Given the description of an element on the screen output the (x, y) to click on. 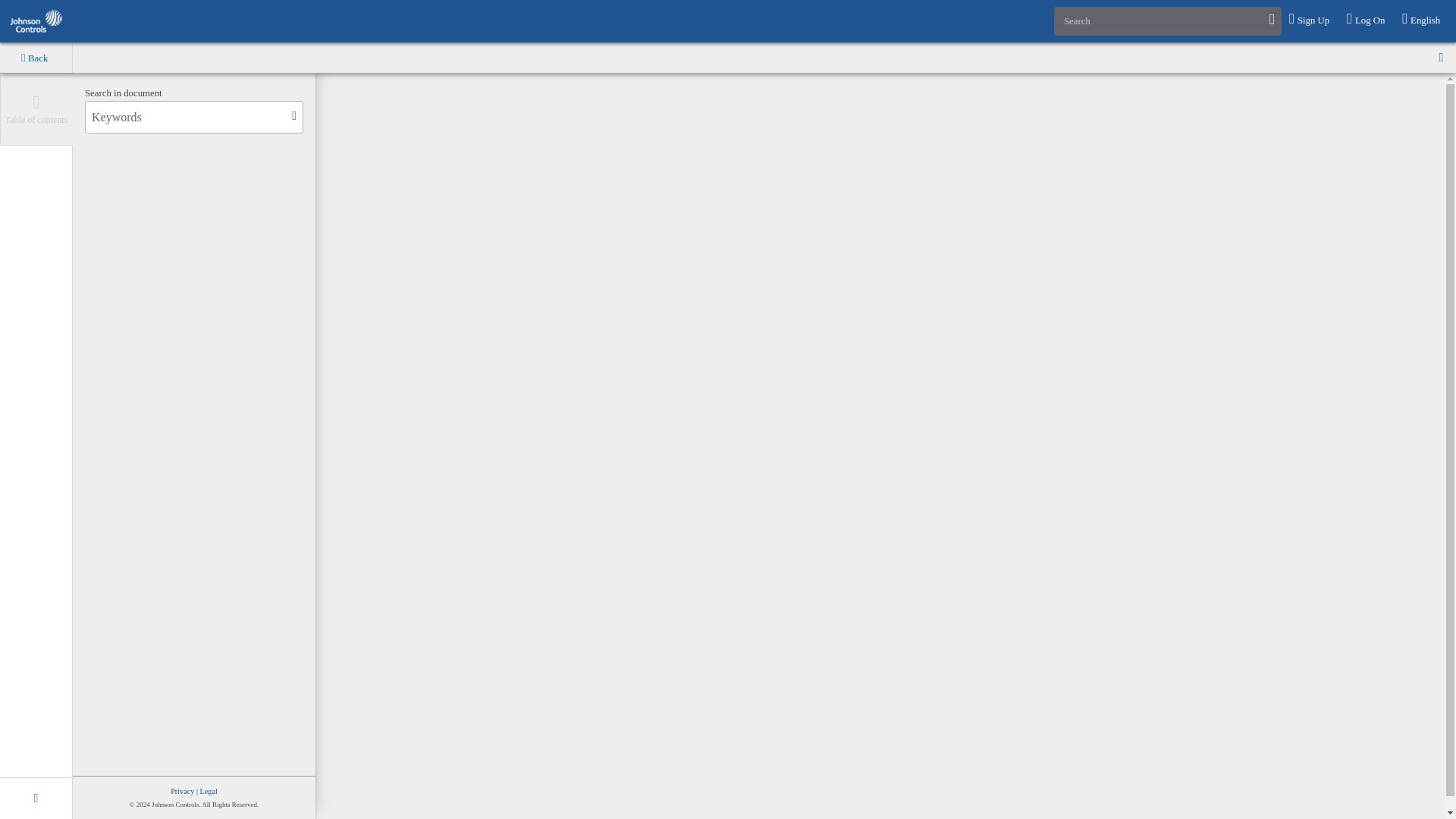
Search (1167, 20)
Sign Up (1310, 20)
Sign Up (1310, 20)
Legal (208, 791)
Log On (1366, 20)
English (1422, 20)
Back to homepage (35, 21)
Search (1167, 20)
Privacy (181, 791)
English (1422, 20)
Back (35, 57)
Log On (1366, 20)
Table of contents (36, 108)
